Given the description of an element on the screen output the (x, y) to click on. 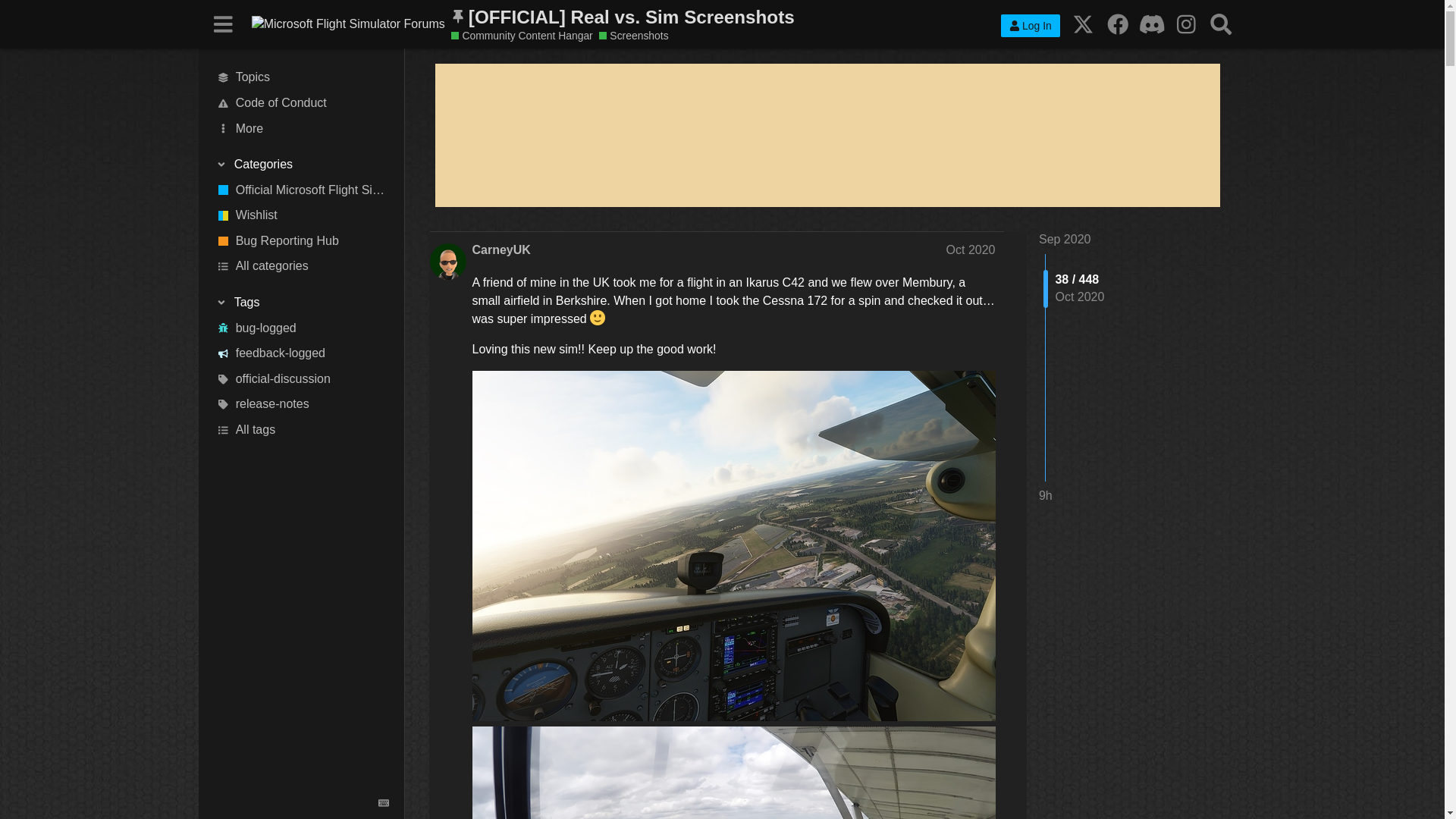
Instagram (1186, 23)
Community Content Hangar (521, 35)
bug-logged (301, 328)
Code of Conduct (301, 103)
All categories (301, 266)
Topics (301, 77)
Sep 2020 (1064, 238)
Tags (301, 302)
Oct 2020 (970, 249)
Guidelines for using this site (301, 103)
More (301, 128)
Screenshots (633, 35)
release-notes (301, 404)
